Given the description of an element on the screen output the (x, y) to click on. 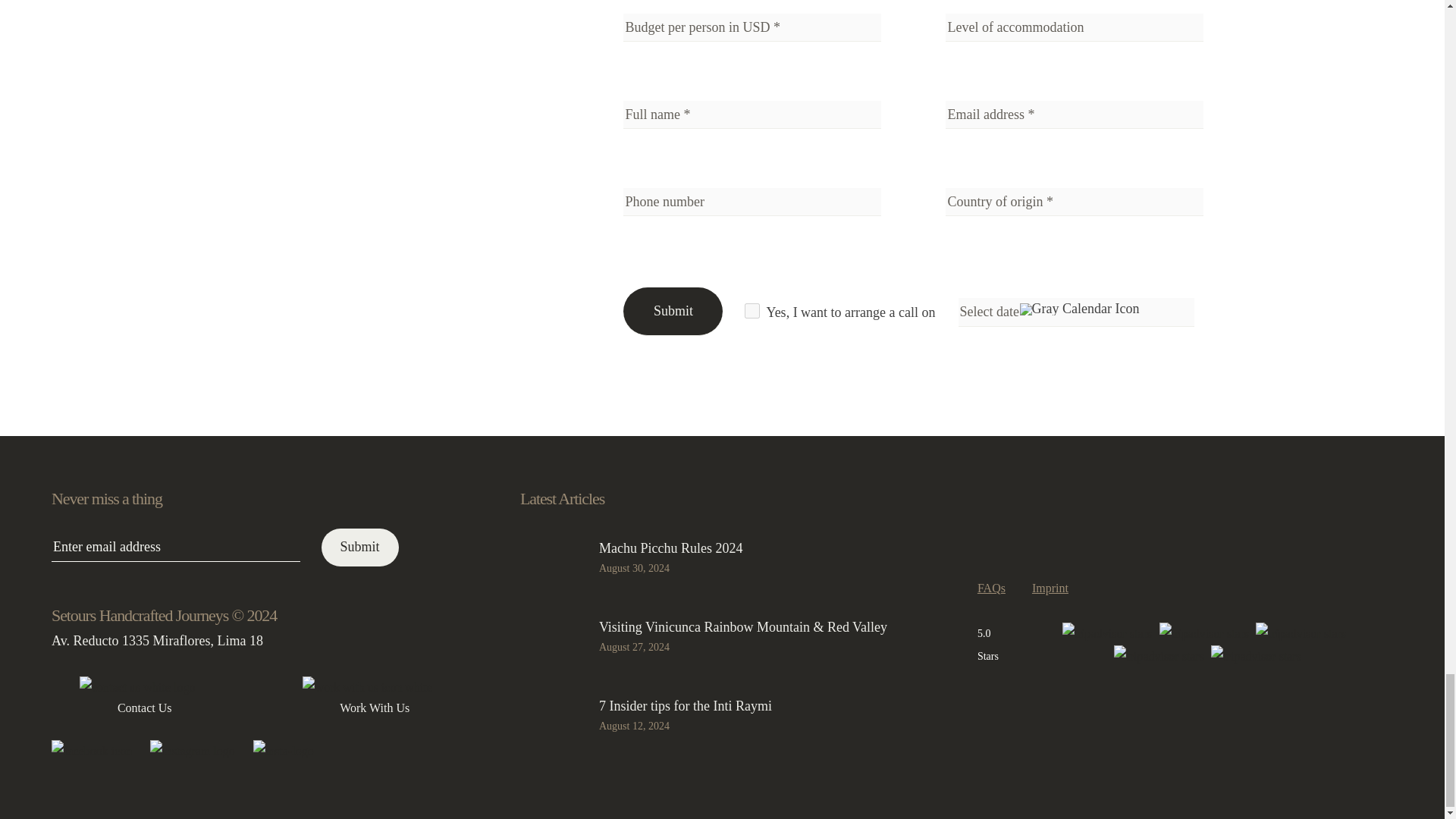
Submit (359, 547)
1 (752, 310)
Submit (672, 310)
